Given the description of an element on the screen output the (x, y) to click on. 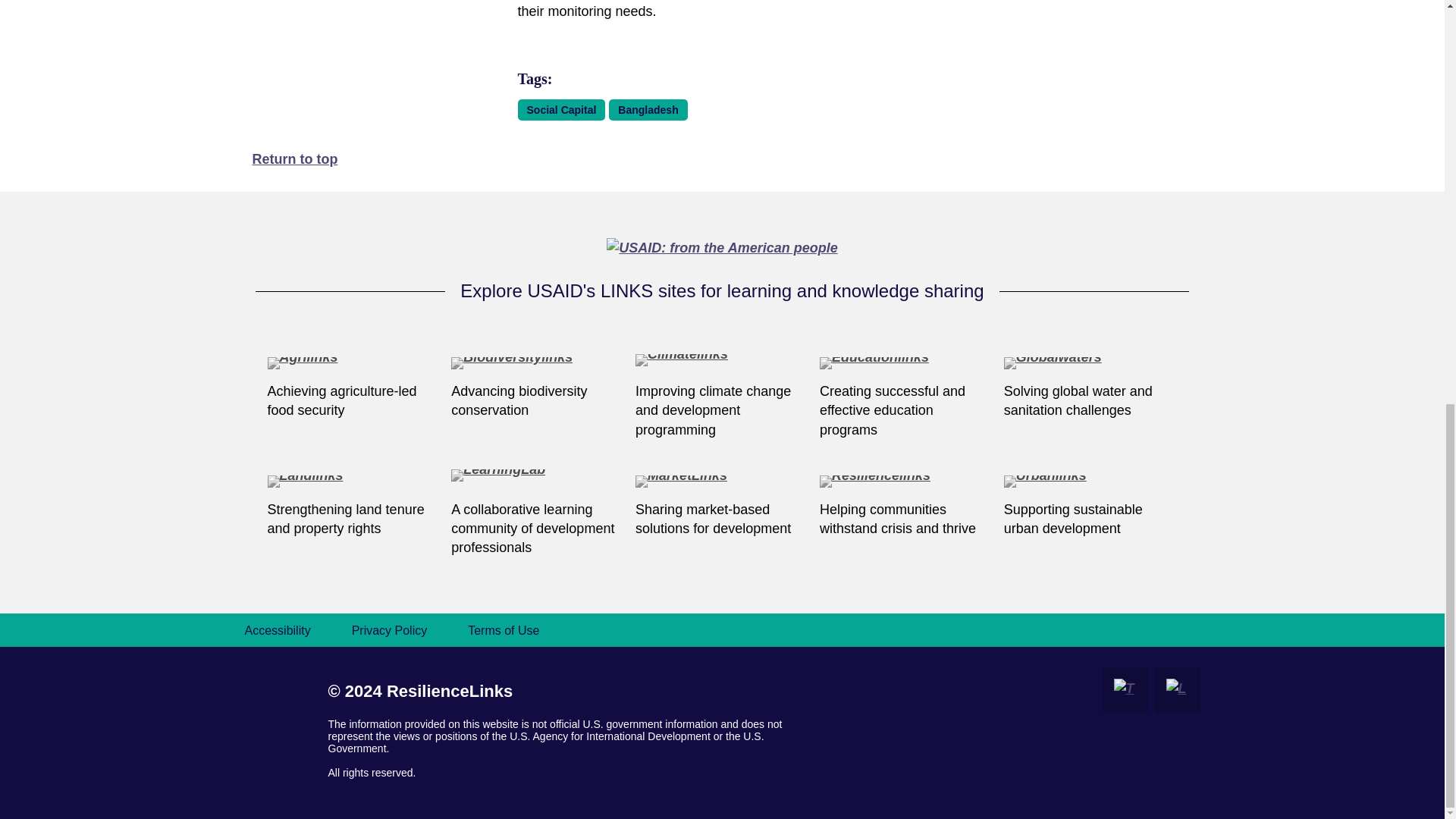
Go to Resiliencelinks (905, 483)
Go to LearningLab (537, 483)
Go to Globalwaters (1090, 364)
Go to Landlinks (353, 483)
Go to Biodiversitylinks (537, 364)
Go to Climatelinks (721, 364)
Return to top (294, 159)
Bangladesh (647, 109)
Go to USAID (722, 247)
Social Capital (560, 109)
Go to Educationlinks (905, 364)
Go to Urbanlinks (1090, 483)
Go to MarketLinks (721, 483)
Go to Agrilinks (353, 364)
